Given the description of an element on the screen output the (x, y) to click on. 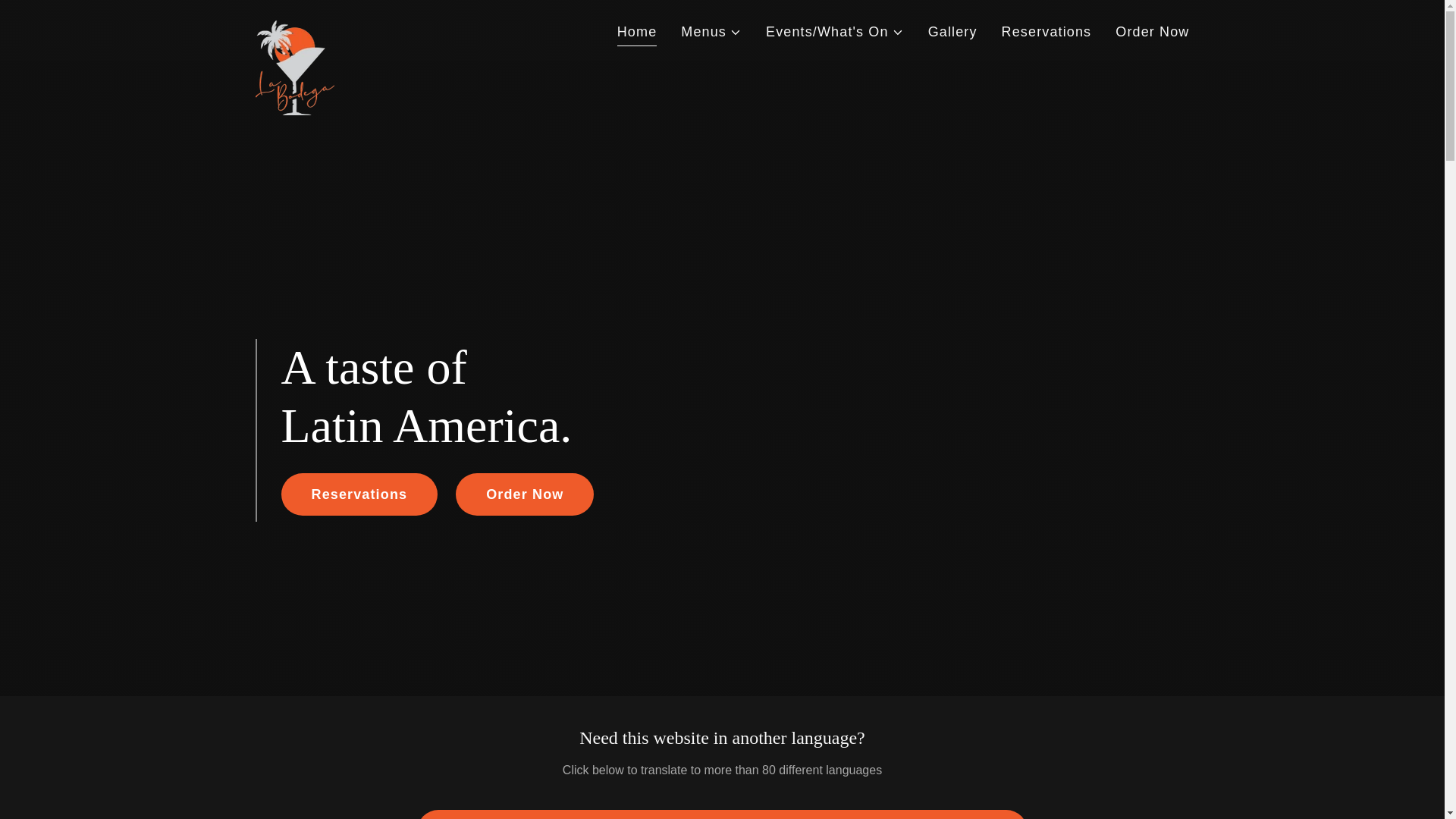
Order Now (524, 494)
Reservations (359, 494)
Order Now (1151, 31)
Reservations (1046, 31)
Home (637, 33)
Gallery (952, 31)
Menus (711, 32)
La Bodega (293, 27)
